Given the description of an element on the screen output the (x, y) to click on. 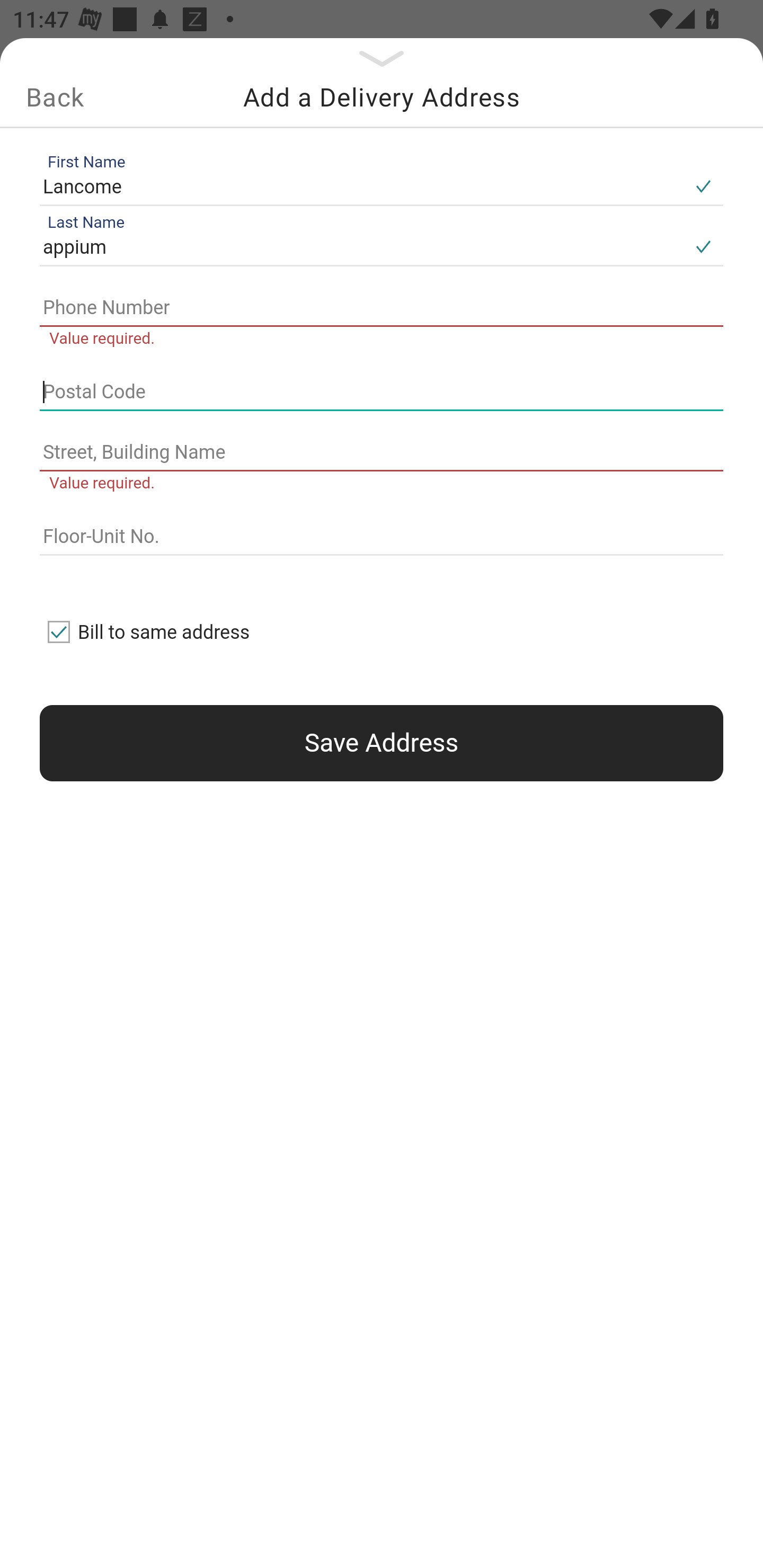
Back (54, 96)
Add a Delivery Address (381, 96)
Lancome (361, 186)
appium (361, 247)
Save Address (381, 742)
